Given the description of an element on the screen output the (x, y) to click on. 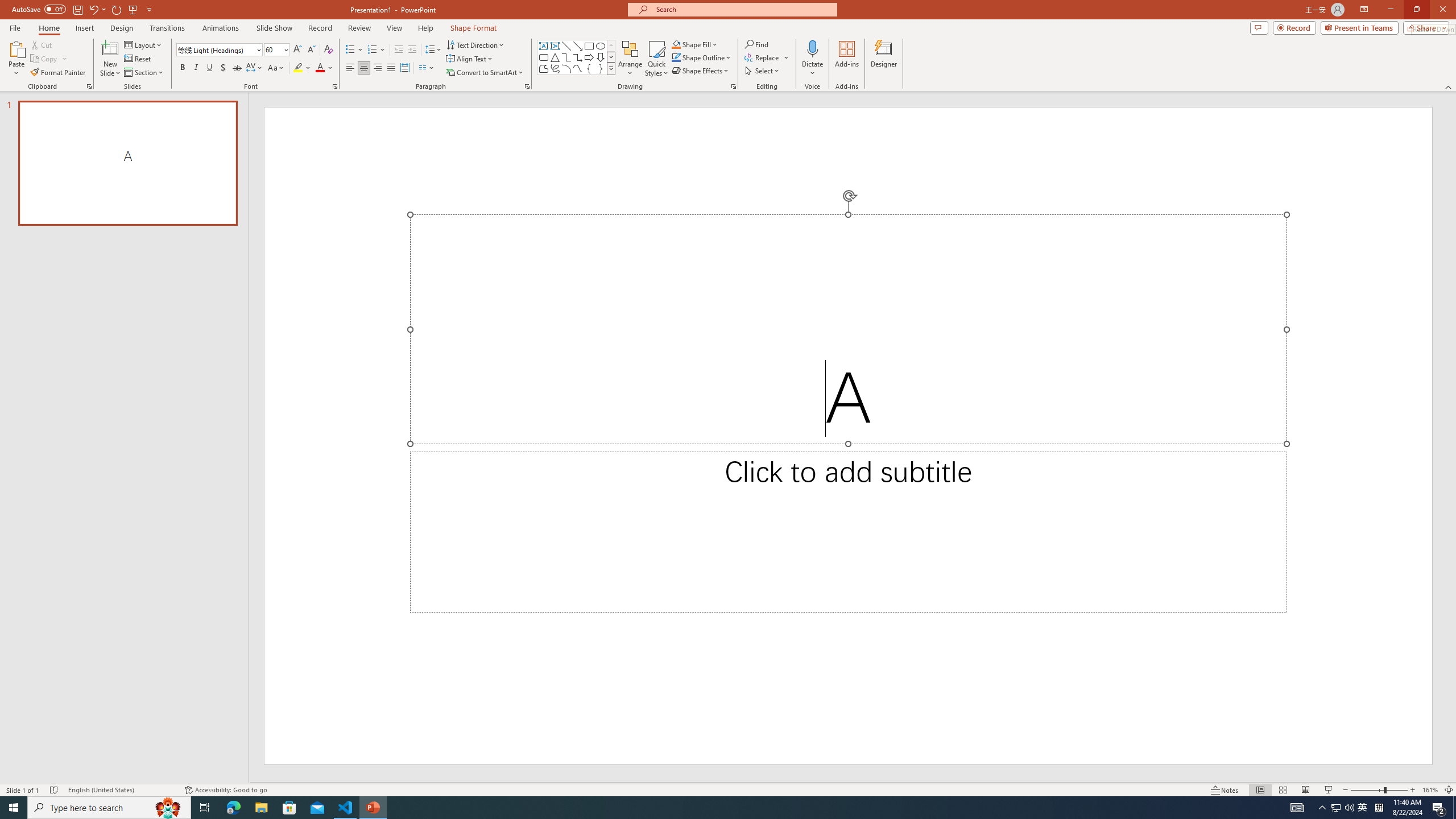
Shape Effects (700, 69)
